Given the description of an element on the screen output the (x, y) to click on. 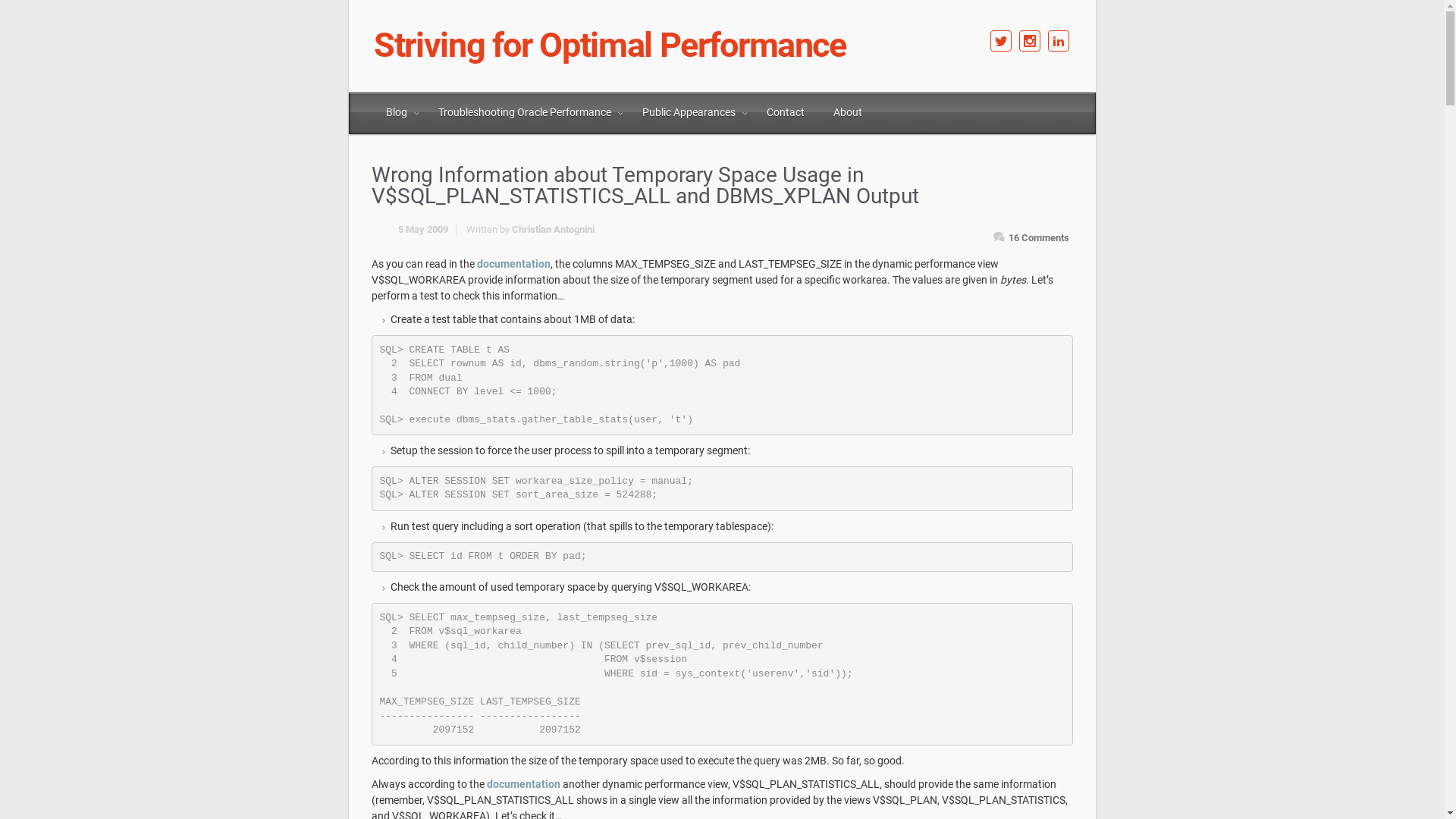
documentation Element type: text (523, 784)
documentation Element type: text (513, 263)
Contact Element type: text (786, 112)
Striving for Optimal Performance Element type: text (616, 45)
5 May 2009 Element type: text (431, 229)
Public Appearances Element type: text (690, 112)
Christian Antognini Element type: text (552, 229)
Blog Element type: text (398, 112)
Troubleshooting Oracle Performance Element type: text (526, 112)
16 Comments Element type: text (1038, 237)
About Element type: text (848, 112)
